Given the description of an element on the screen output the (x, y) to click on. 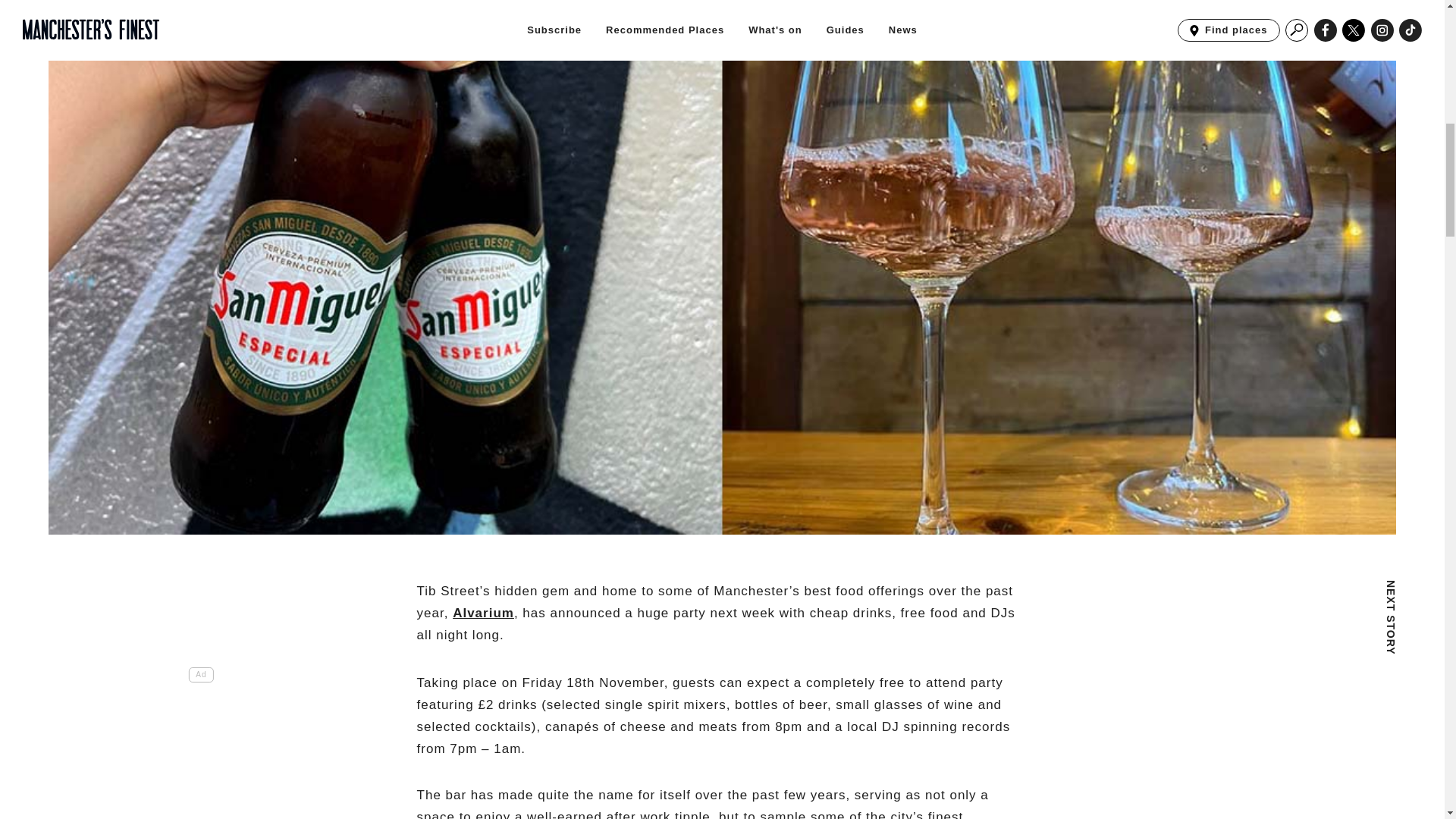
Alvarium (482, 612)
